Given the description of an element on the screen output the (x, y) to click on. 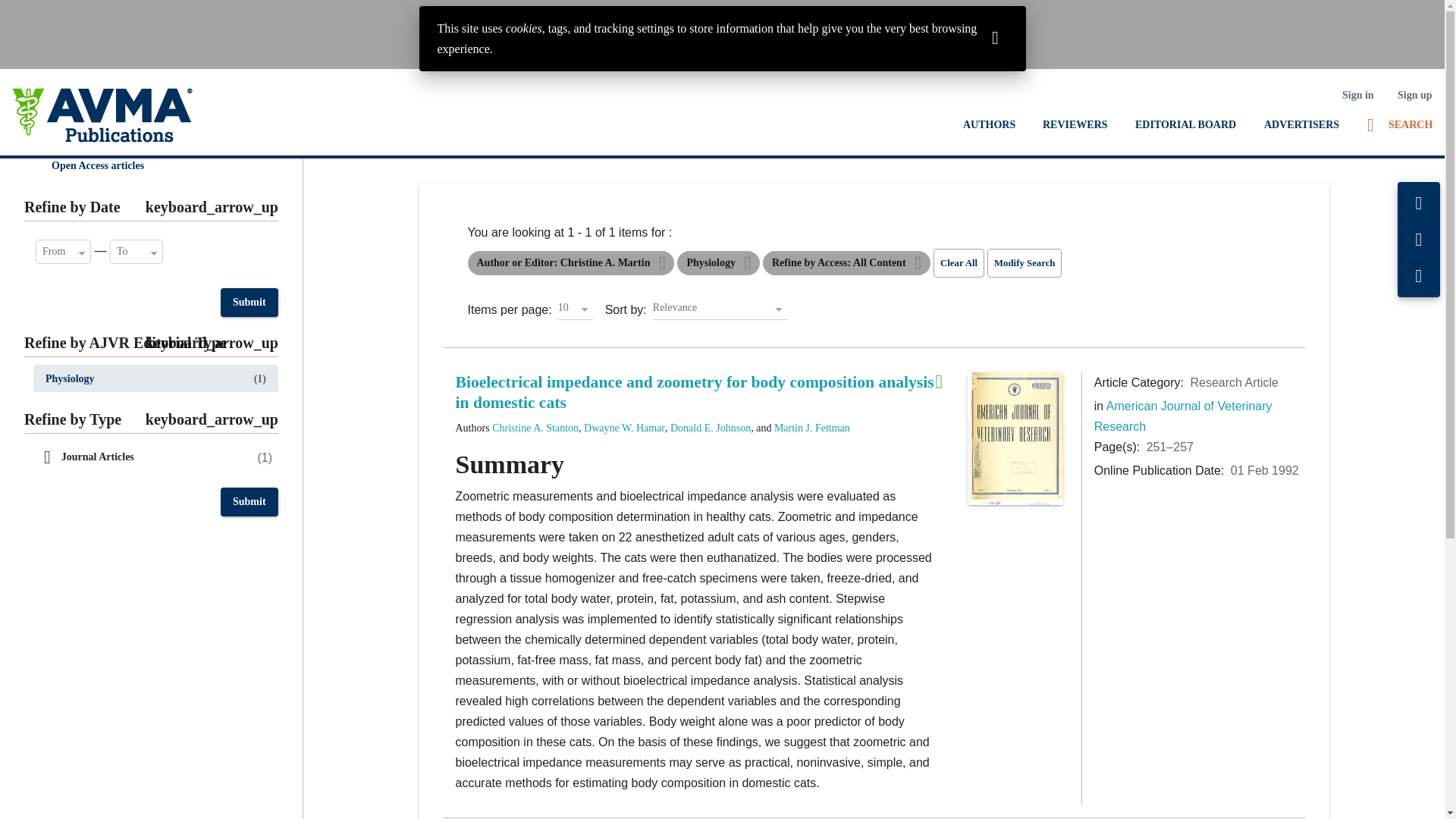
Sign in (1358, 95)
Jump to Content (45, 11)
AUTHORS (988, 124)
Dismiss this warning (994, 37)
